Given the description of an element on the screen output the (x, y) to click on. 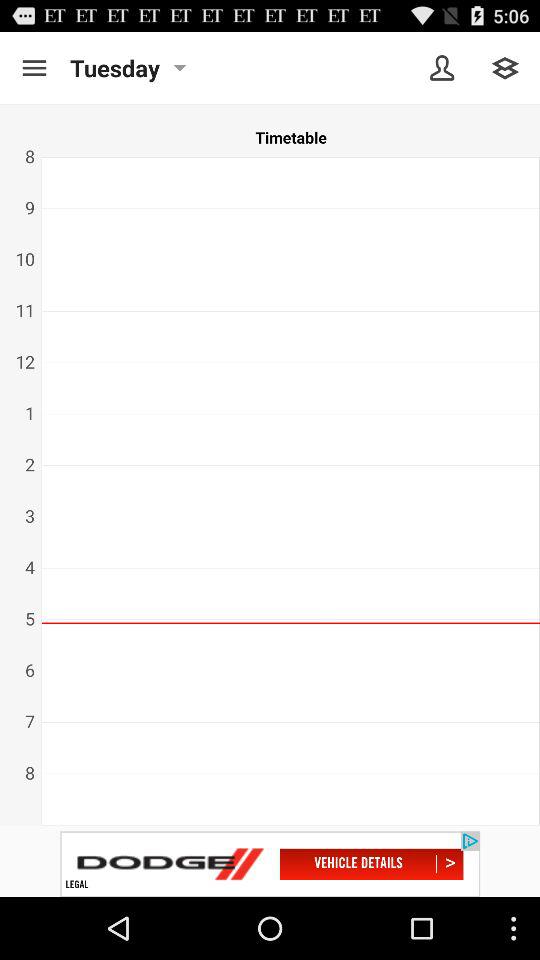
advertisement image (270, 864)
